Given the description of an element on the screen output the (x, y) to click on. 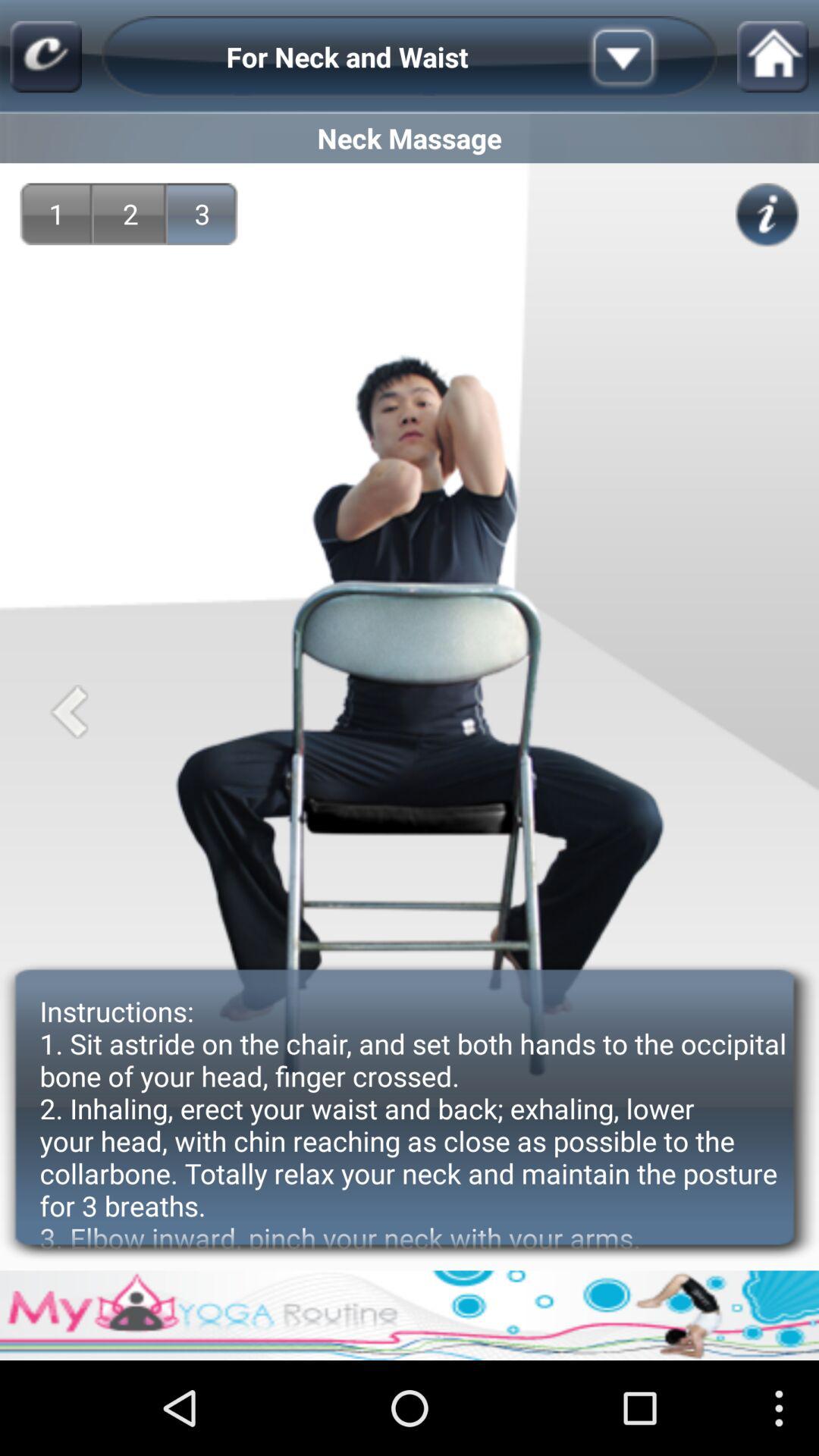
go back (68, 711)
